Given the description of an element on the screen output the (x, y) to click on. 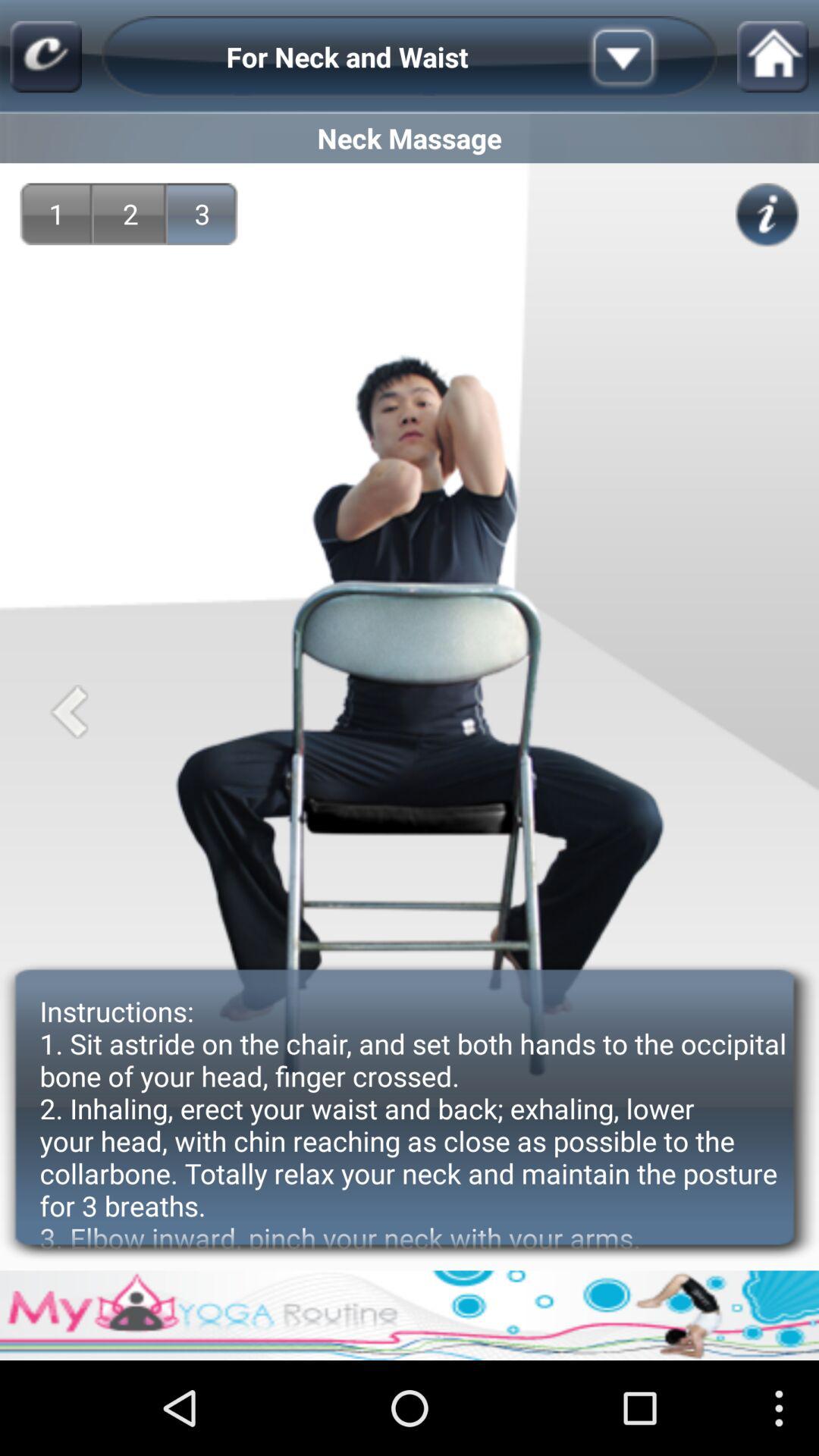
go back (68, 711)
